Given the description of an element on the screen output the (x, y) to click on. 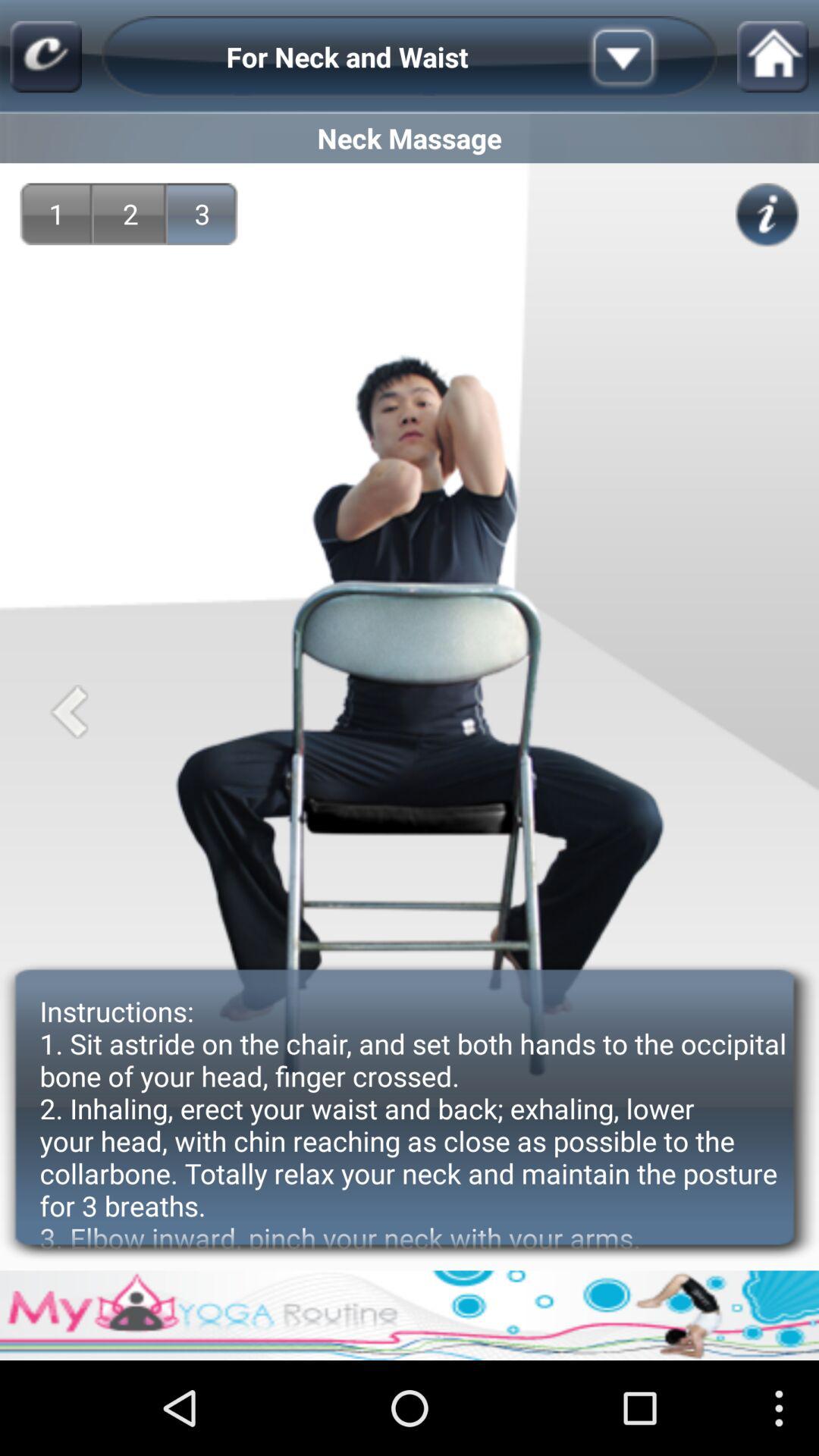
go back (68, 711)
